Given the description of an element on the screen output the (x, y) to click on. 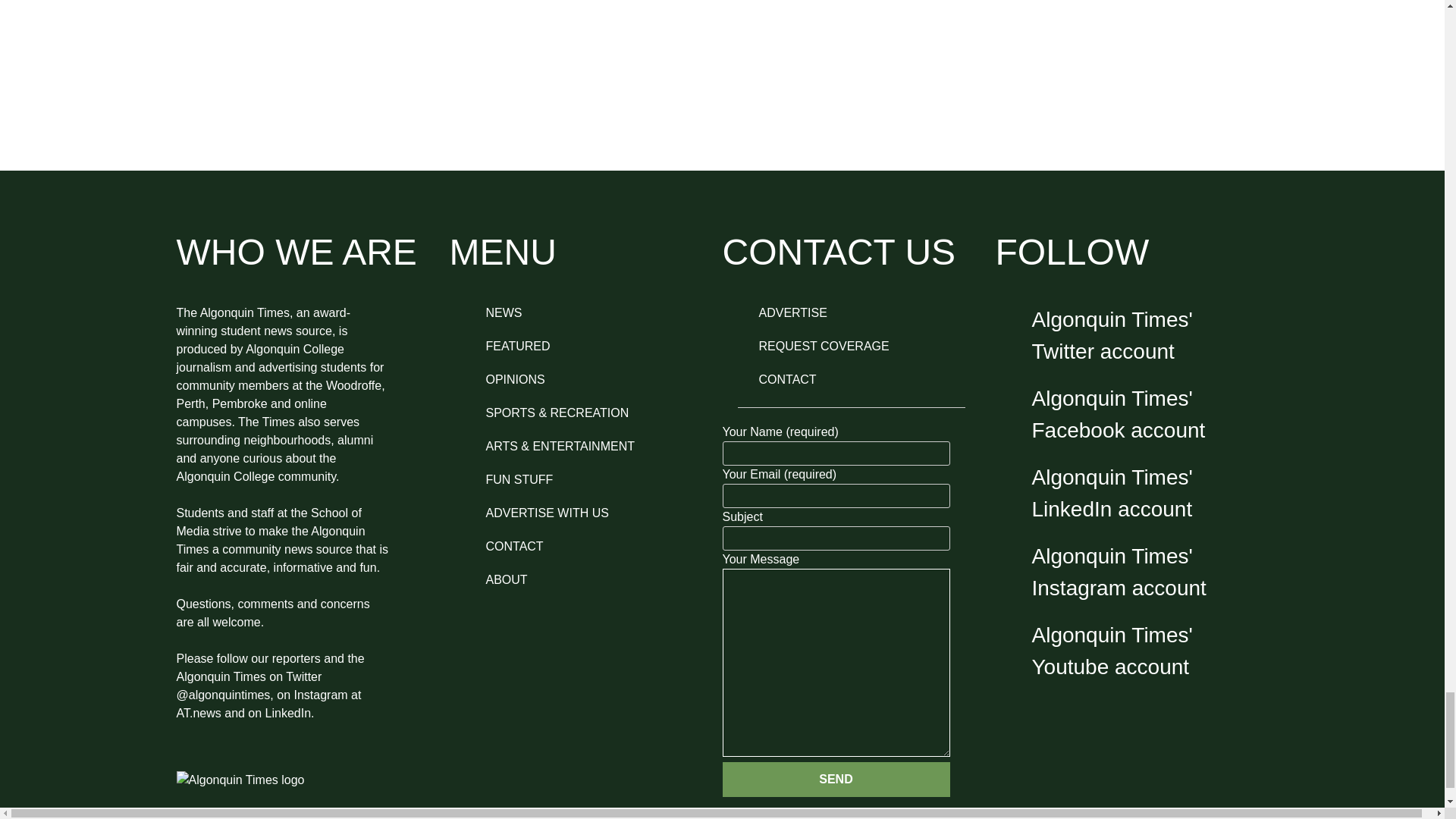
Send (835, 779)
